Given the description of an element on the screen output the (x, y) to click on. 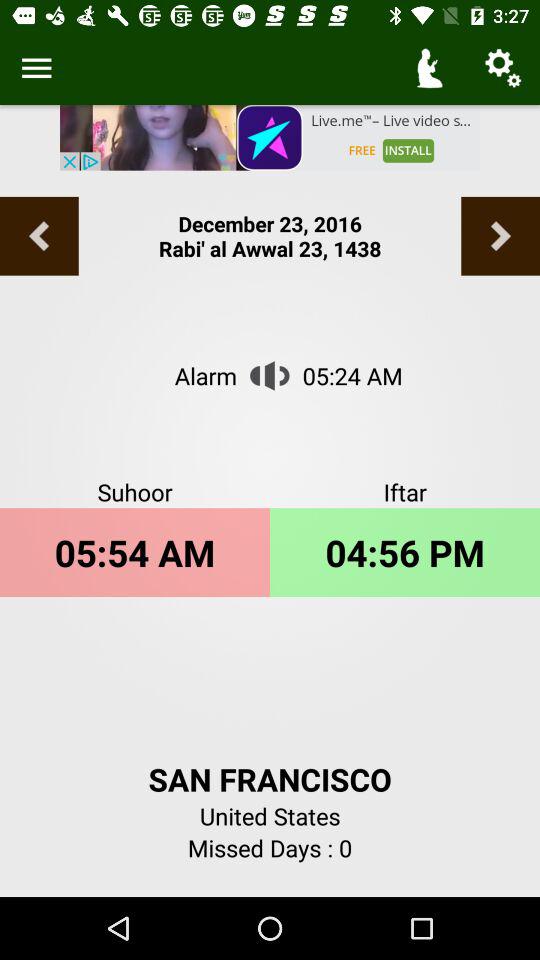
next (500, 235)
